Given the description of an element on the screen output the (x, y) to click on. 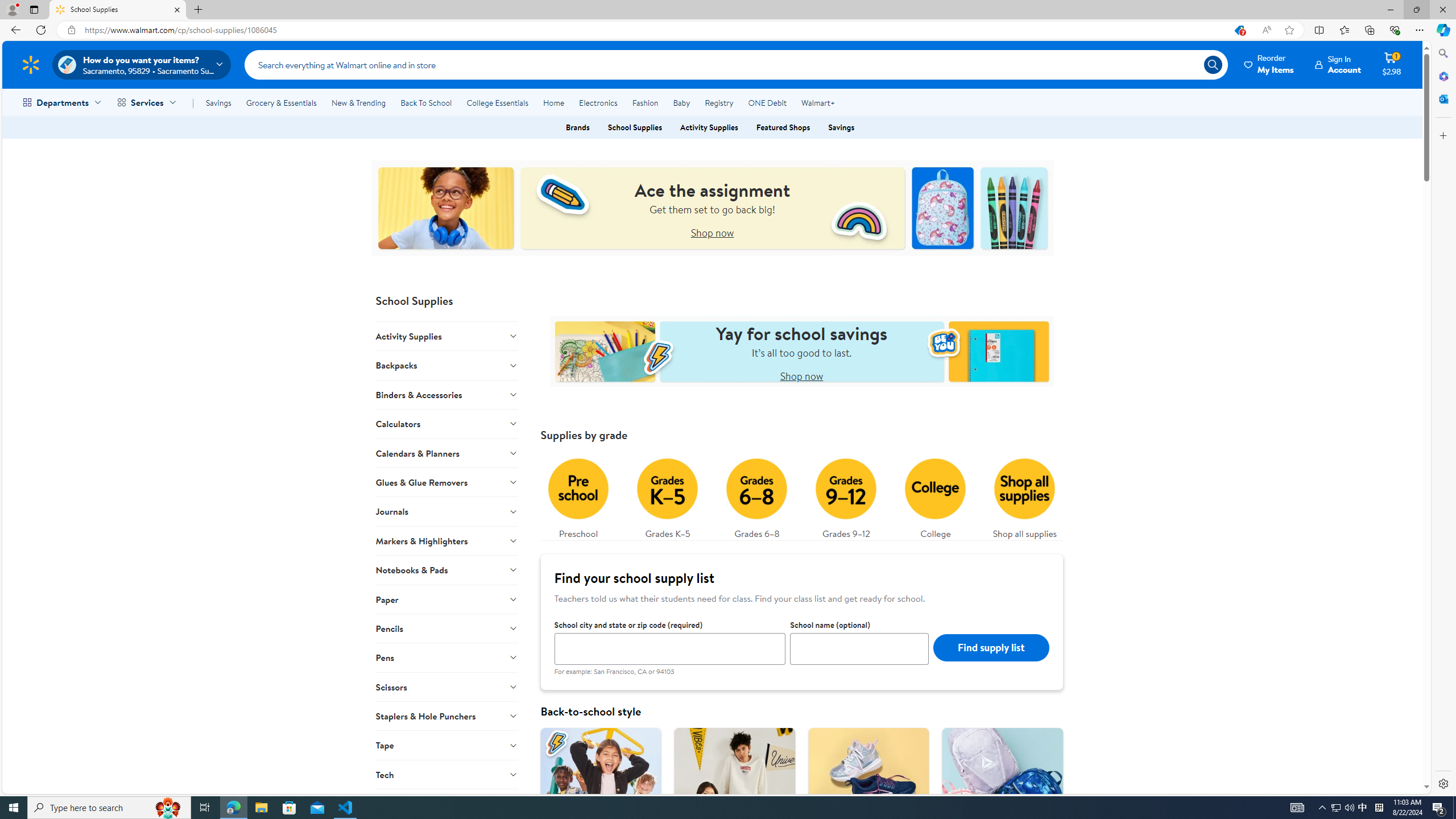
Journals (446, 510)
Brands (577, 126)
School name (optional) (859, 648)
Pens (446, 657)
Shop now (802, 375)
Grocery & Essentials (280, 102)
New & Trending (358, 102)
Calendars & Planners (446, 452)
